Given the description of an element on the screen output the (x, y) to click on. 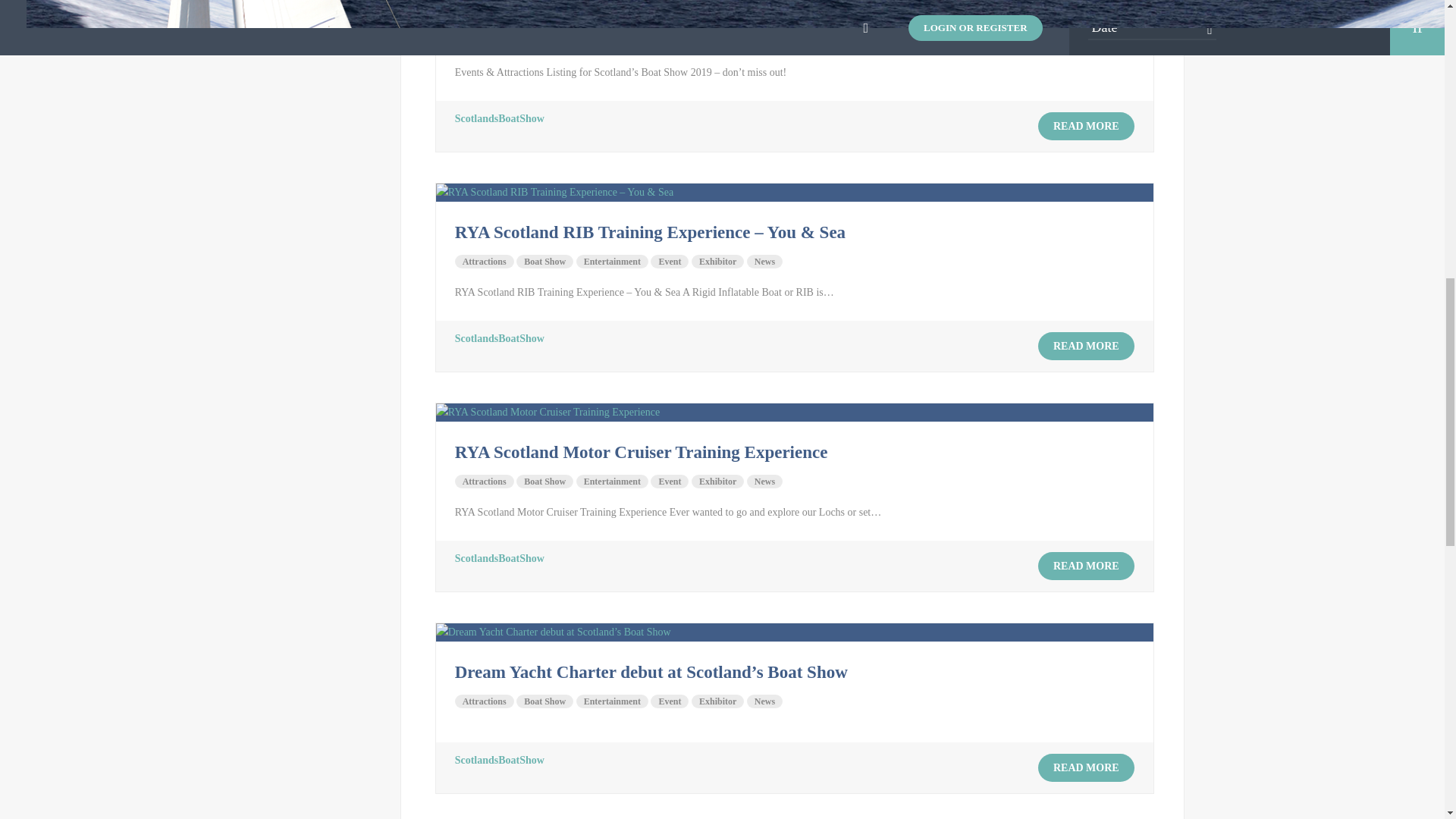
View all posts by ScotlandsBoatShow (499, 337)
View all posts by ScotlandsBoatShow (499, 759)
View all posts by ScotlandsBoatShow (499, 118)
View all posts by ScotlandsBoatShow (499, 558)
